Given the description of an element on the screen output the (x, y) to click on. 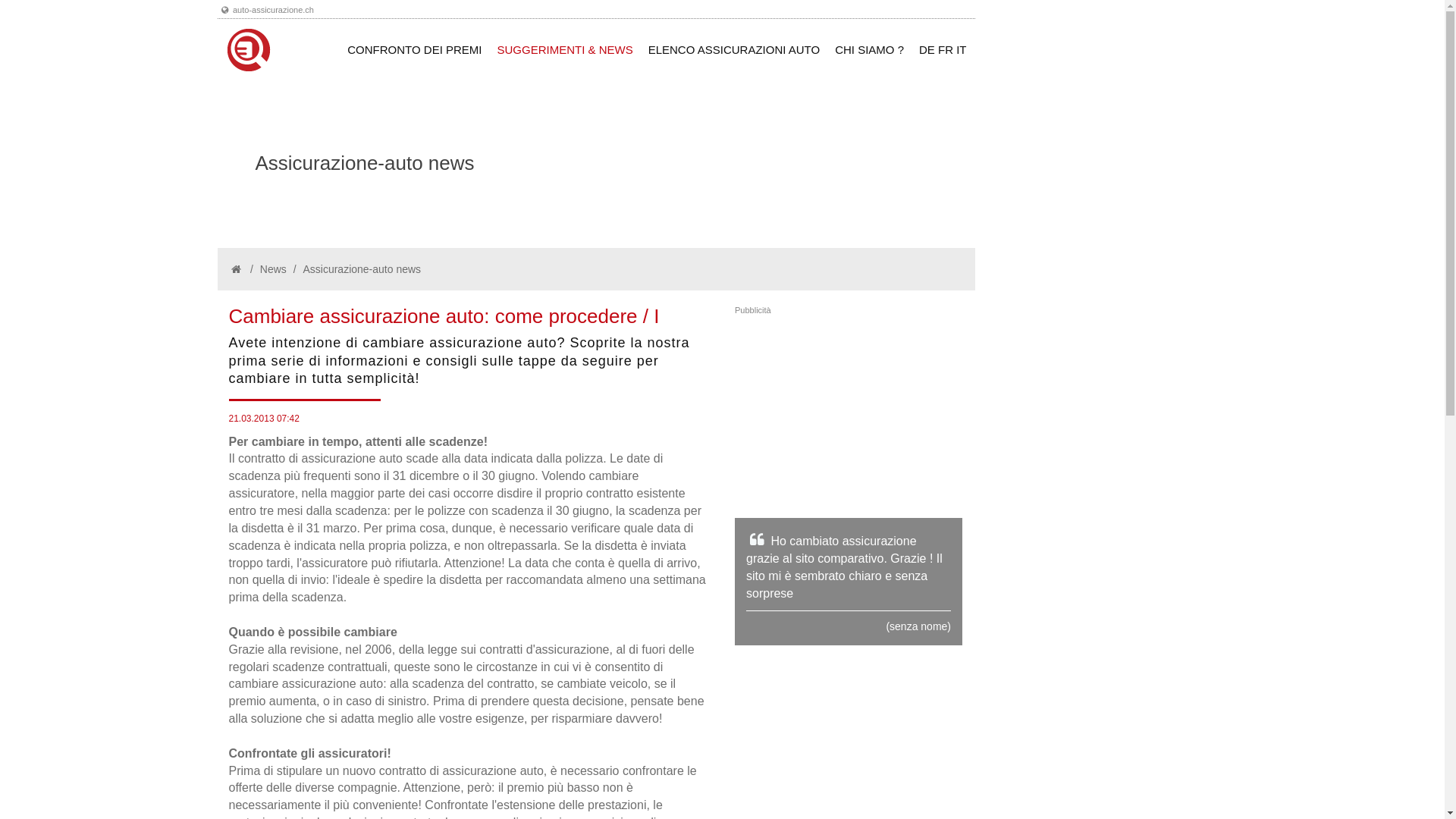
CONFRONTO DEI PREMI Element type: text (414, 49)
SUGGERIMENTI & NEWS Element type: text (564, 49)
News Element type: text (273, 269)
ELENCO ASSICURAZIONI AUTO Element type: text (733, 49)
Assicurazione-auto news Element type: text (361, 269)
CHI SIAMO ? Element type: text (869, 49)
DE FR IT Element type: text (942, 49)
